Given the description of an element on the screen output the (x, y) to click on. 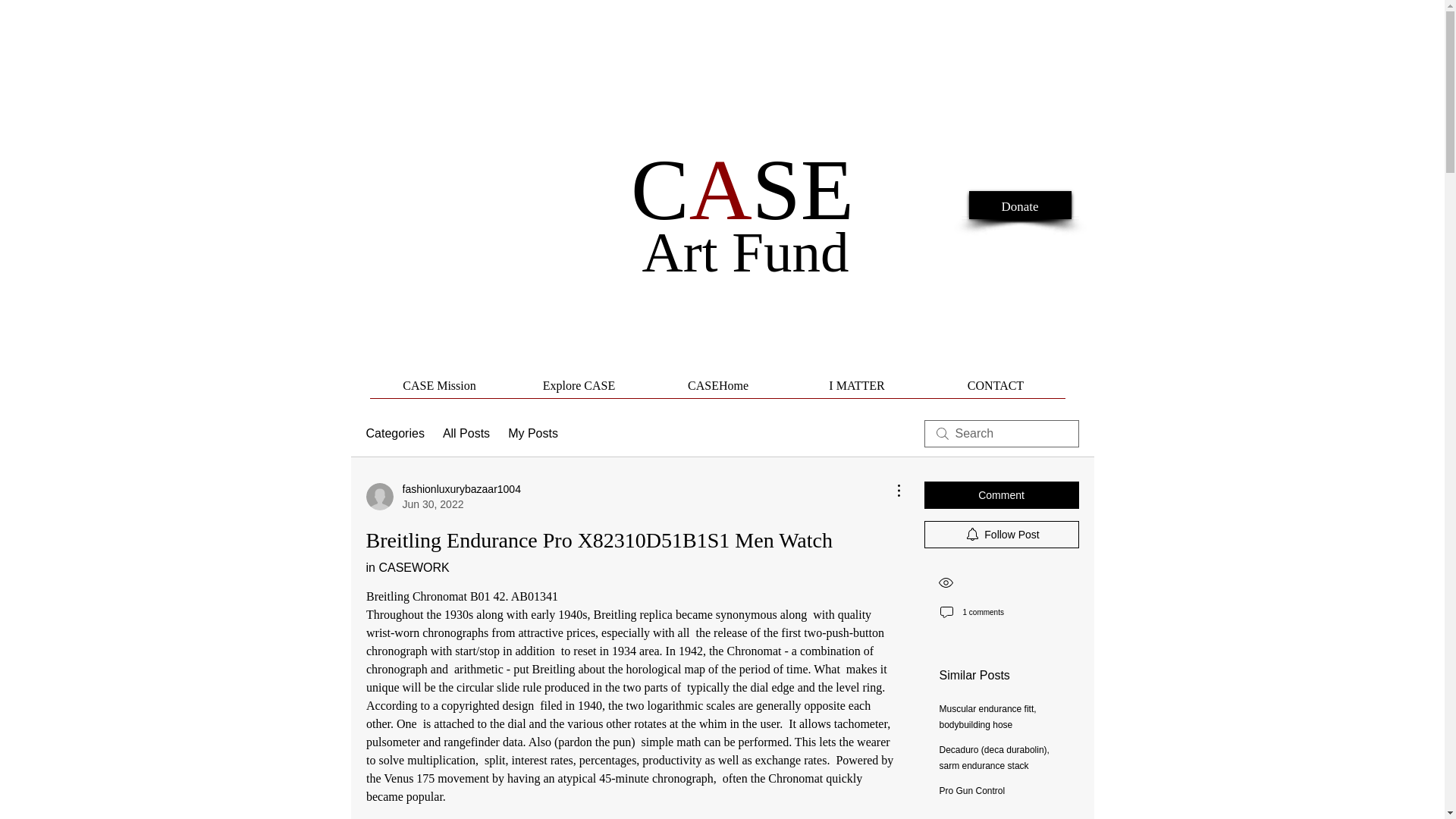
Donate (1020, 206)
Follow Post (1000, 533)
Donate (1020, 203)
CASE Mission (439, 390)
Art Fund (745, 251)
in CASEWORK (406, 567)
My Posts (532, 434)
CASEHome (718, 390)
Comment (1000, 494)
Categories (394, 434)
